Given the description of an element on the screen output the (x, y) to click on. 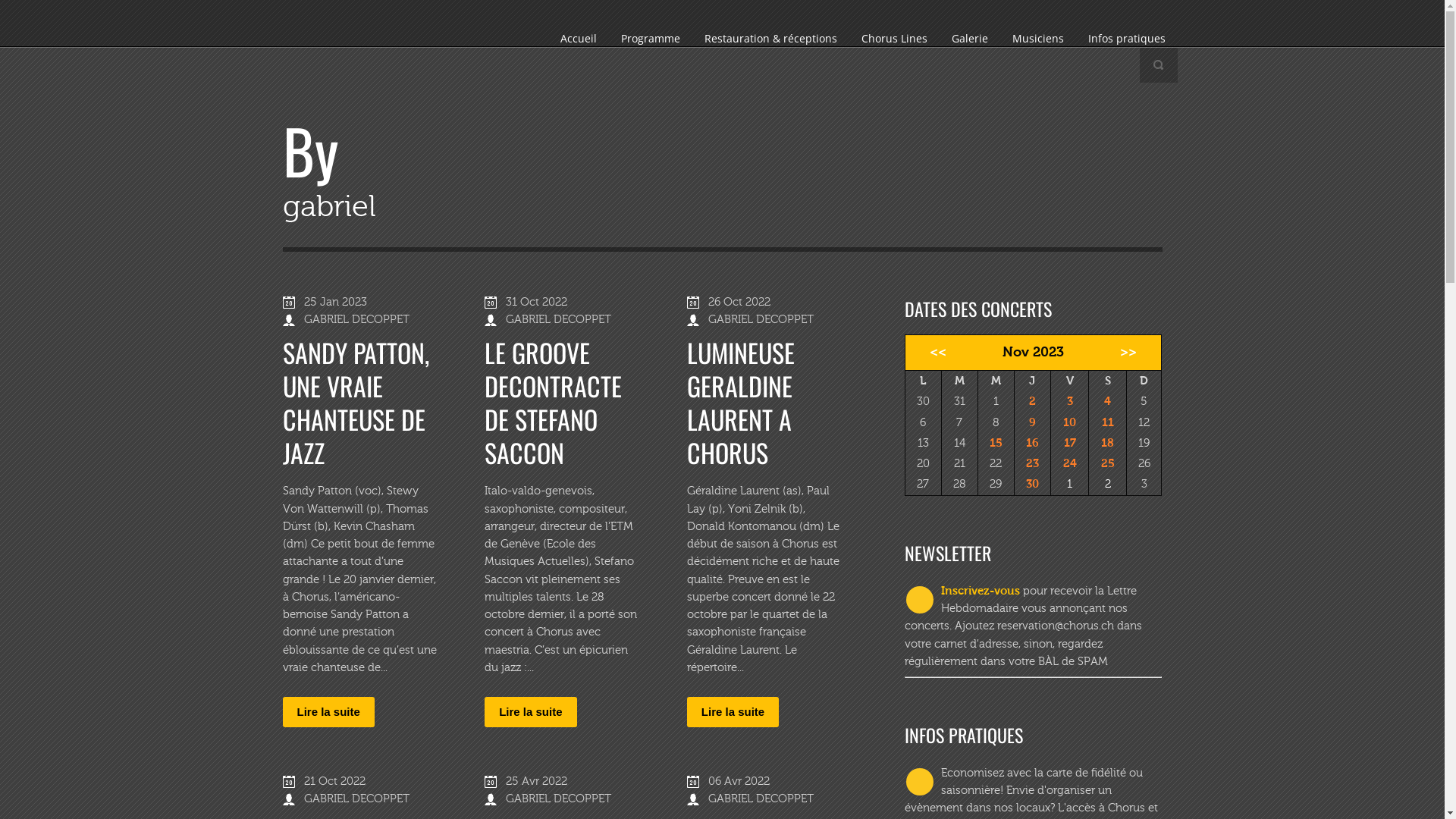
16 Element type: text (1032, 442)
2 Element type: text (1032, 400)
4 Element type: text (1107, 400)
18 Element type: text (1107, 442)
SANDY PATTON, UNE VRAIE CHANTEUSE DE JAZZ Element type: text (355, 401)
GABRIEL DECOPPET Element type: text (760, 798)
GABRIEL DECOPPET Element type: text (558, 319)
30 Element type: text (1032, 483)
3 Element type: text (1069, 400)
24 Element type: text (1069, 463)
Inscrivez-vous Element type: text (979, 590)
Lire la suite Element type: text (327, 711)
GABRIEL DECOPPET Element type: text (355, 319)
23 Element type: text (1032, 463)
GABRIEL DECOPPET Element type: text (558, 798)
Galerie Element type: text (968, 38)
LE GROOVE DECONTRACTE DE STEFANO SACCON Element type: text (552, 401)
9 Element type: text (1032, 422)
GABRIEL DECOPPET Element type: text (355, 798)
Infos pratiques Element type: text (1125, 38)
Musiciens Element type: text (1037, 38)
25 Element type: text (1107, 463)
1 Element type: text (1069, 483)
10 Element type: text (1069, 422)
Programme Element type: text (649, 38)
Lire la suite Element type: text (530, 711)
Chorus Lines Element type: text (894, 38)
>> Element type: text (1133, 352)
LUMINEUSE GERALDINE LAURENT A CHORUS Element type: text (740, 401)
15 Element type: text (995, 442)
<< Element type: text (933, 352)
11 Element type: text (1107, 422)
Lire la suite Element type: text (732, 711)
17 Element type: text (1069, 442)
2 Element type: text (1107, 483)
Accueil Element type: text (577, 38)
GABRIEL DECOPPET Element type: text (760, 319)
